Given the description of an element on the screen output the (x, y) to click on. 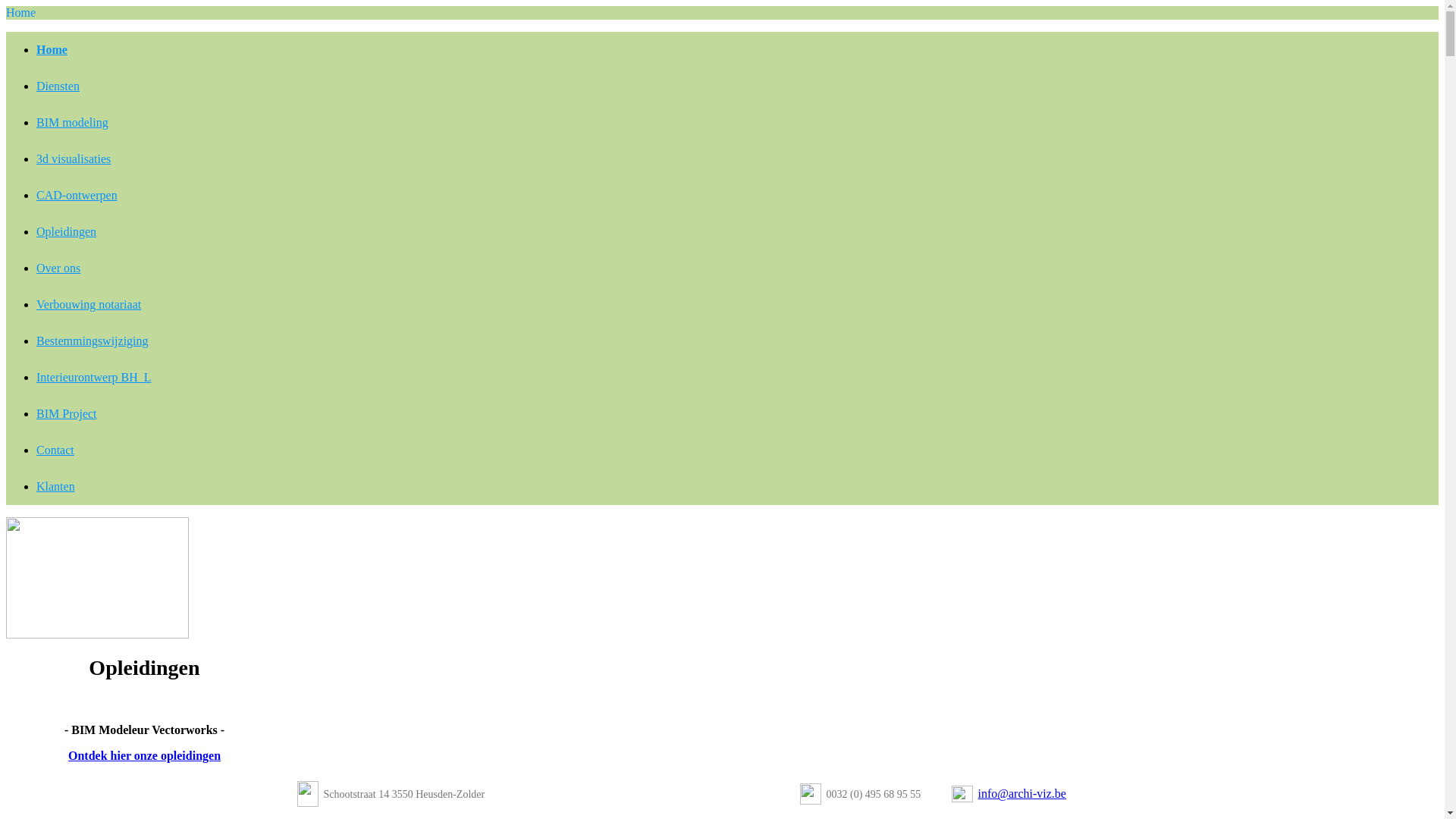
3d visualisaties Element type: text (73, 158)
Ontdek hier onze opleidingen Element type: text (144, 755)
Over ons Element type: text (58, 267)
Interieurontwerp BH_L Element type: text (93, 376)
Contact Element type: text (55, 449)
Home Element type: text (51, 49)
CAD-ontwerpen Element type: text (76, 194)
info@archi-viz.be Element type: text (1022, 793)
Bestemmingswijziging Element type: text (92, 340)
Opleidingen Element type: text (66, 231)
BIM Project Element type: text (66, 413)
Diensten Element type: text (57, 85)
BIM modeling Element type: text (72, 122)
Verbouwing notariaat Element type: text (88, 304)
Klanten Element type: text (55, 486)
